Given the description of an element on the screen output the (x, y) to click on. 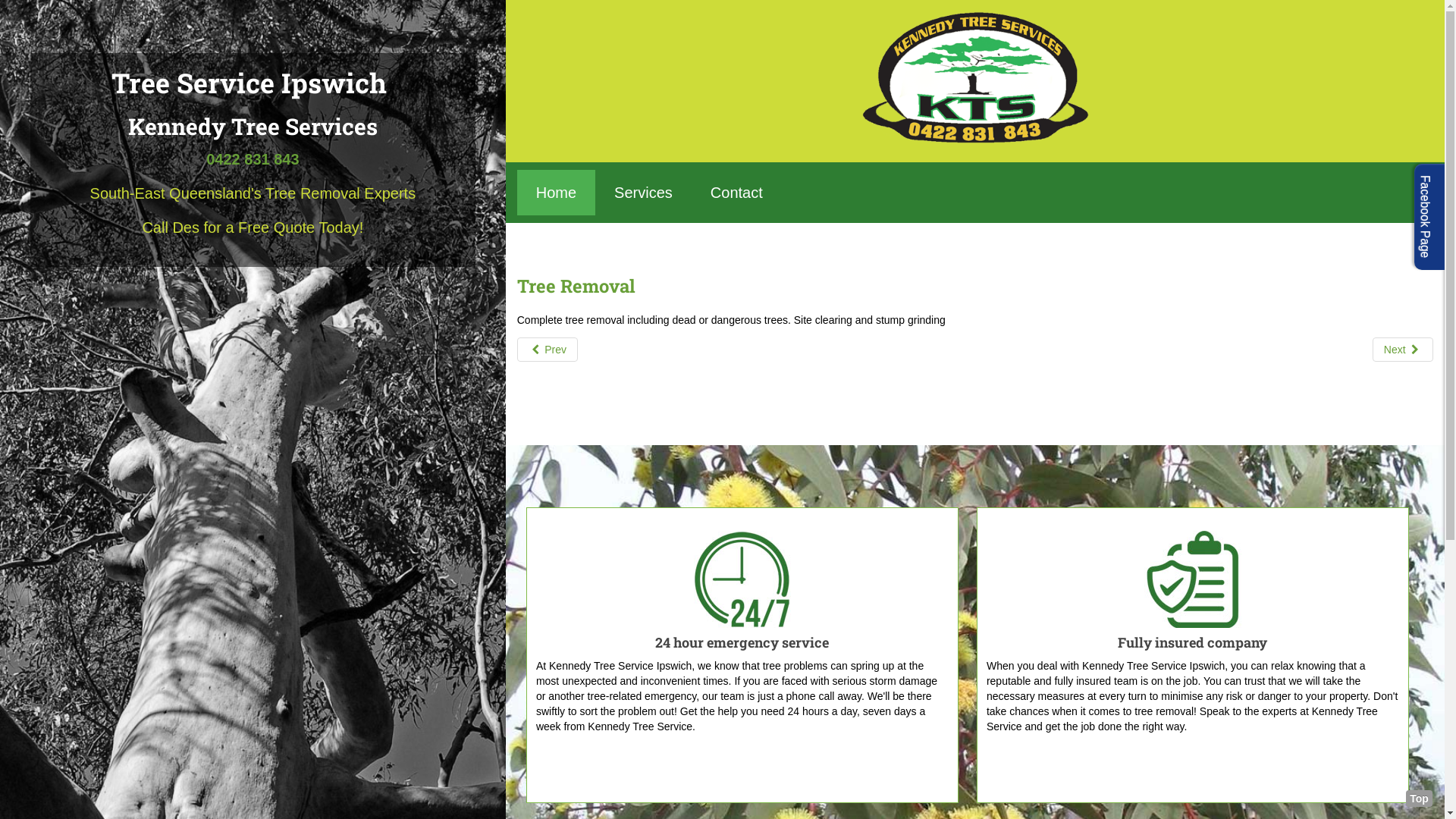
0422 831 843 Element type: text (252, 158)
Contact Element type: text (736, 192)
Next Element type: text (1402, 349)
Kennedy Tree Service - Ipswich Element type: hover (975, 77)
Tree Removal Element type: text (576, 285)
Home Element type: text (556, 192)
Top Element type: text (1418, 798)
Services Element type: text (643, 192)
Prev Element type: text (547, 349)
